Given the description of an element on the screen output the (x, y) to click on. 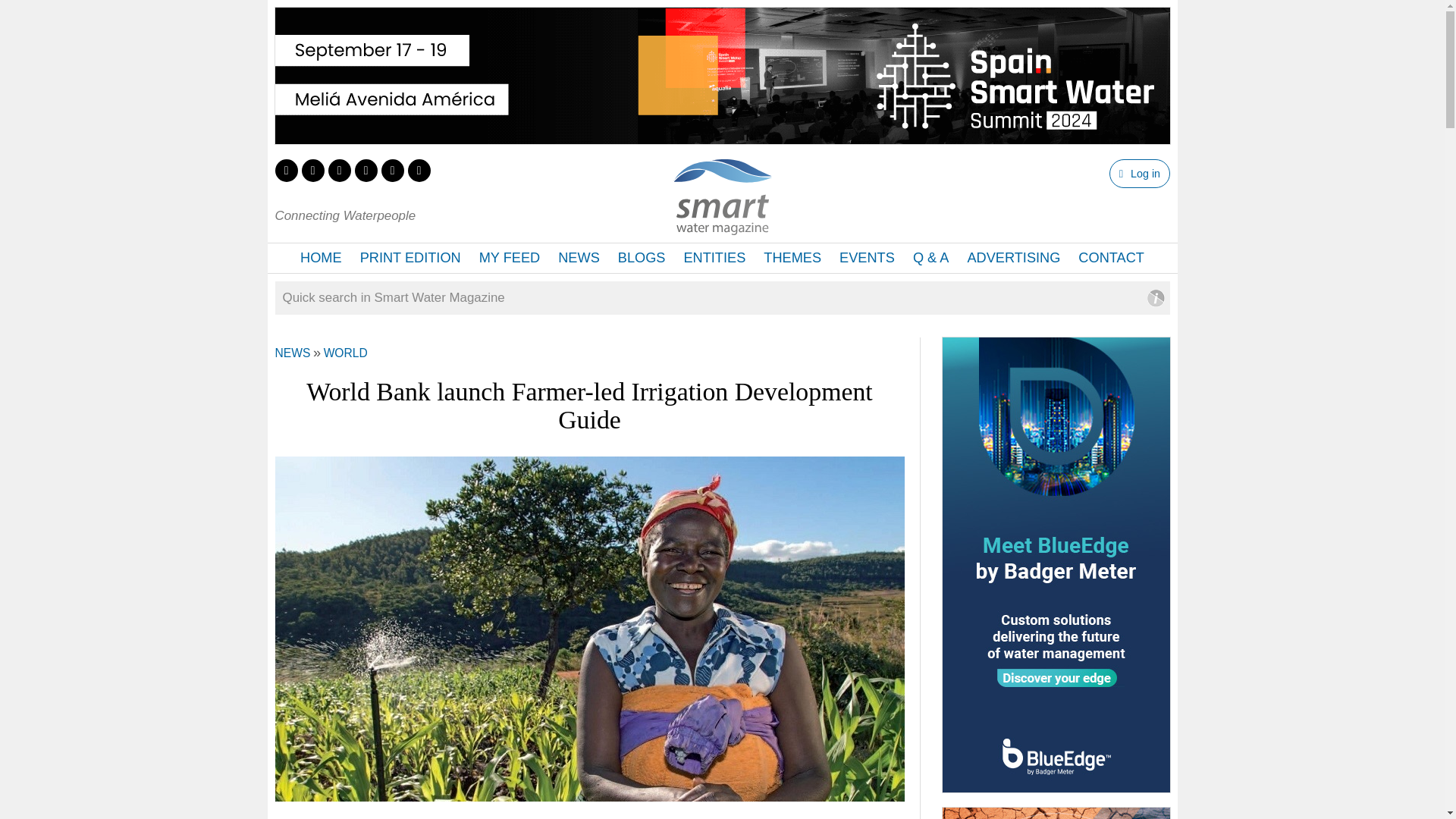
Follow us on Youtube (391, 169)
HOME (320, 257)
Follow us on Instagram (366, 169)
CONTACT (1110, 257)
THEMES (791, 257)
Subscribe to our newsletter (418, 169)
Return to the Smart Water Magazine home page (721, 225)
Log in (1139, 173)
MY FEED (510, 257)
BLOGS (641, 257)
Log in (1139, 173)
Follow us on Facebook (312, 169)
Skip to main content (677, 1)
WORLD (345, 352)
NEWS (292, 352)
